Given the description of an element on the screen output the (x, y) to click on. 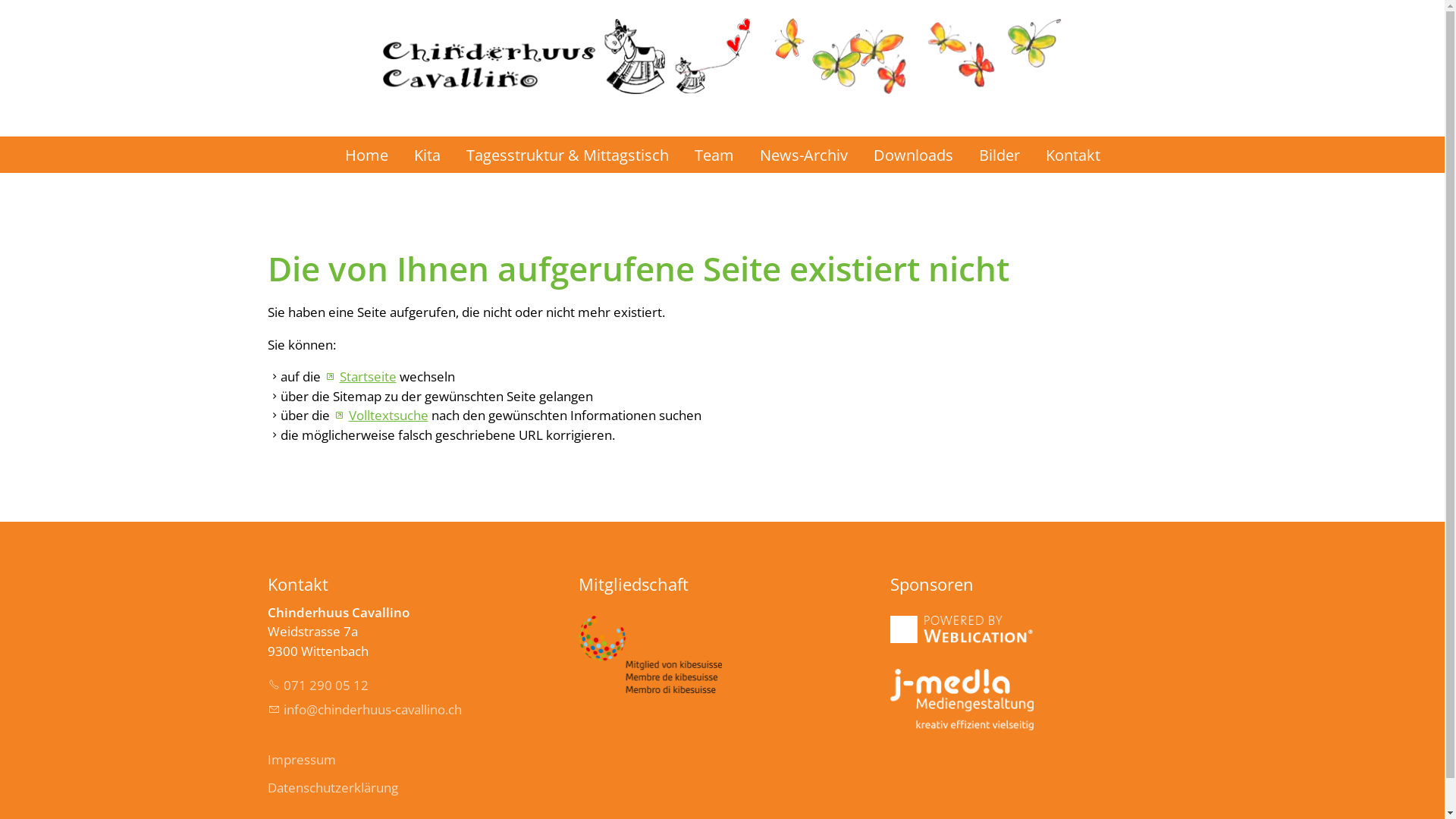
Kontakt Element type: text (1072, 154)
Kita Element type: text (426, 154)
test Element type: hover (961, 699)
nfchndrhs-cvllnch Element type: text (363, 709)
Volltextsuche Element type: text (379, 414)
Downloads Element type: text (912, 154)
Tagesstruktur & Mittagstisch Element type: text (567, 154)
Zur Startseite Element type: hover (721, 47)
Impressum Element type: text (300, 759)
071 290 05 12 Element type: text (316, 684)
Startseite Element type: text (359, 376)
Mitglied bei kibesuisse Element type: hover (649, 654)
News-Archiv Element type: text (802, 154)
Home Element type: text (366, 154)
Team Element type: text (713, 154)
Bilder Element type: text (999, 154)
